Given the description of an element on the screen output the (x, y) to click on. 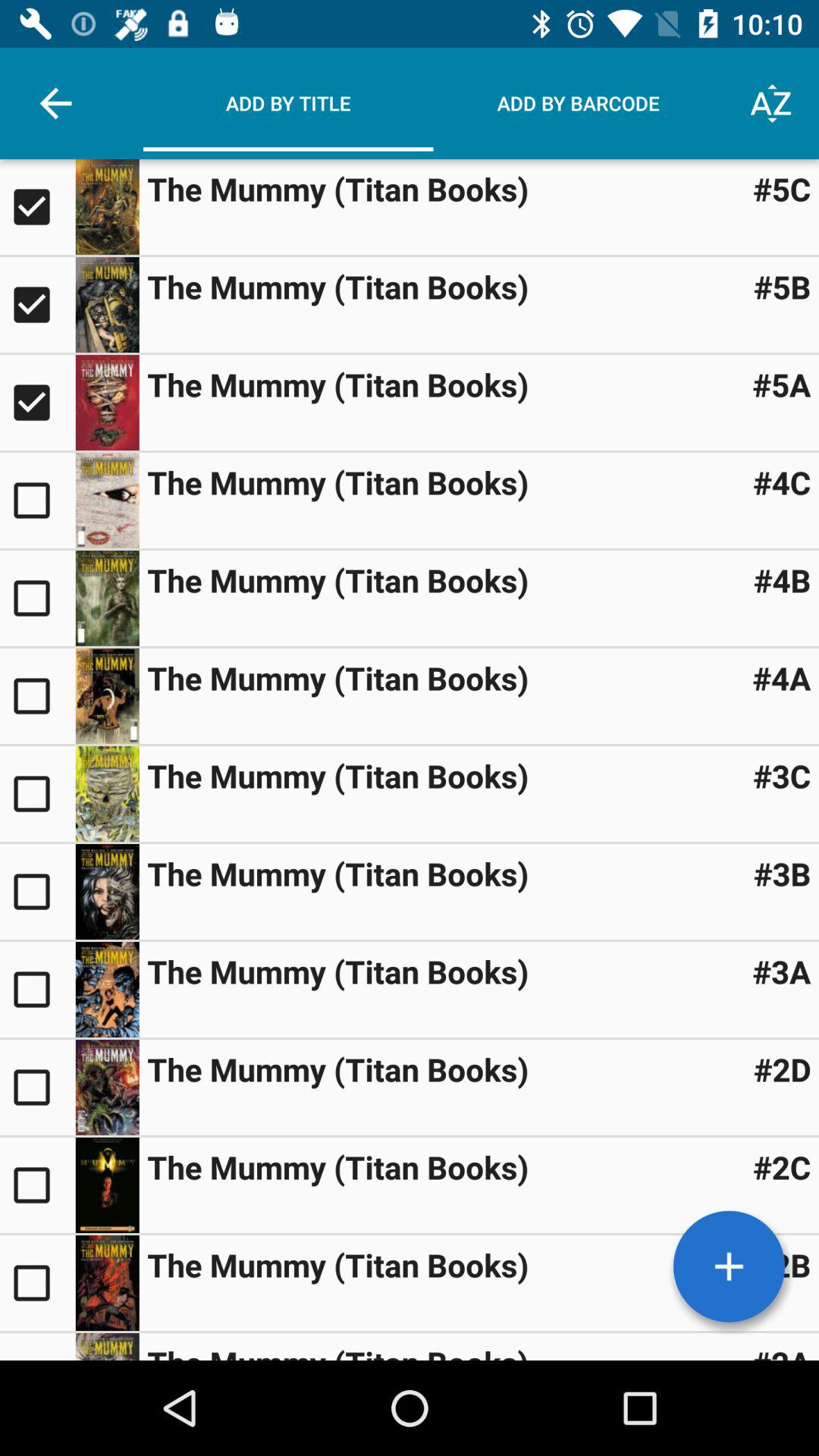
swipe to #4a icon (781, 677)
